Given the description of an element on the screen output the (x, y) to click on. 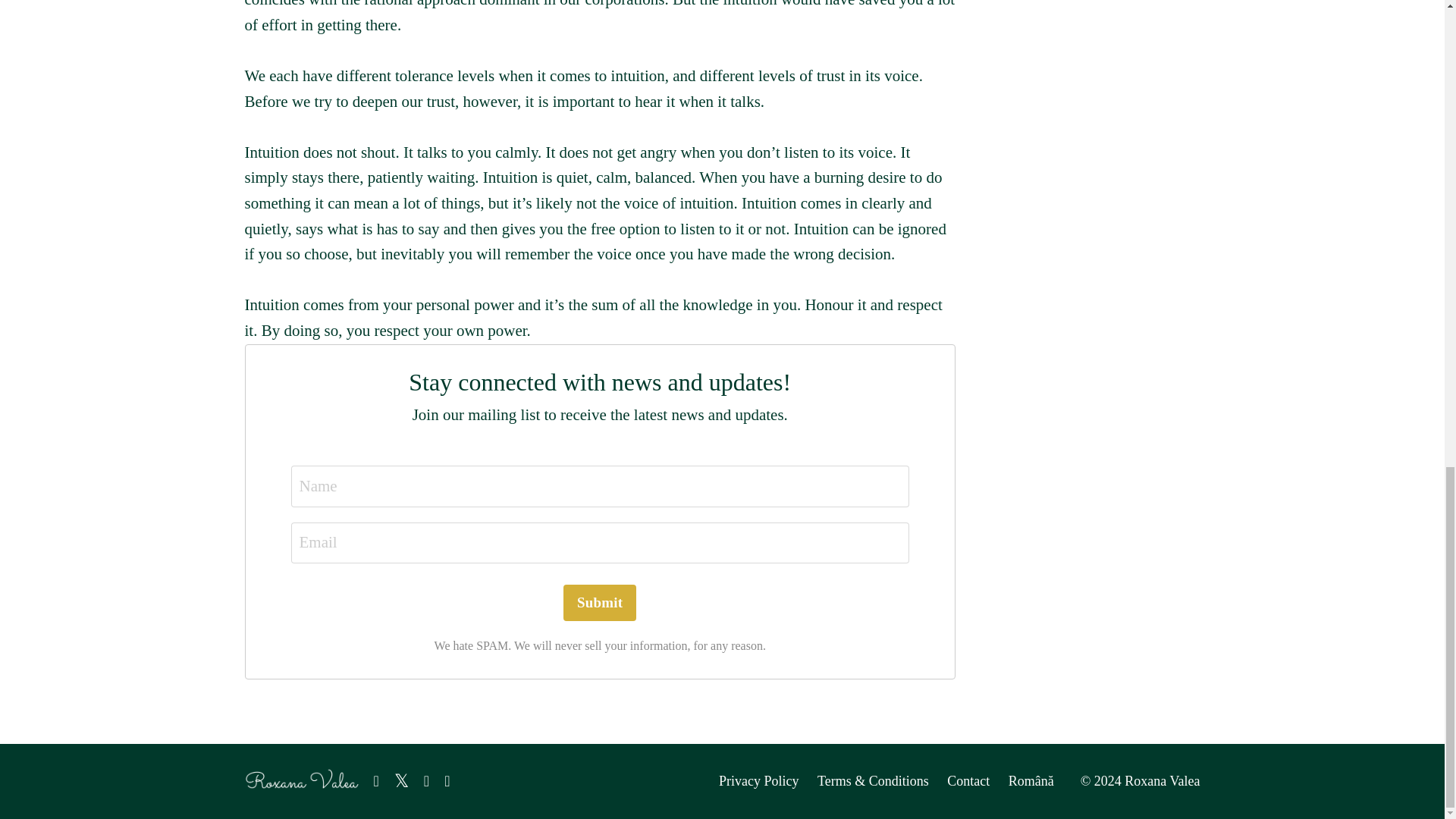
Privacy Policy (759, 780)
Submit (599, 602)
Contact (968, 780)
Submit (599, 602)
